Given the description of an element on the screen output the (x, y) to click on. 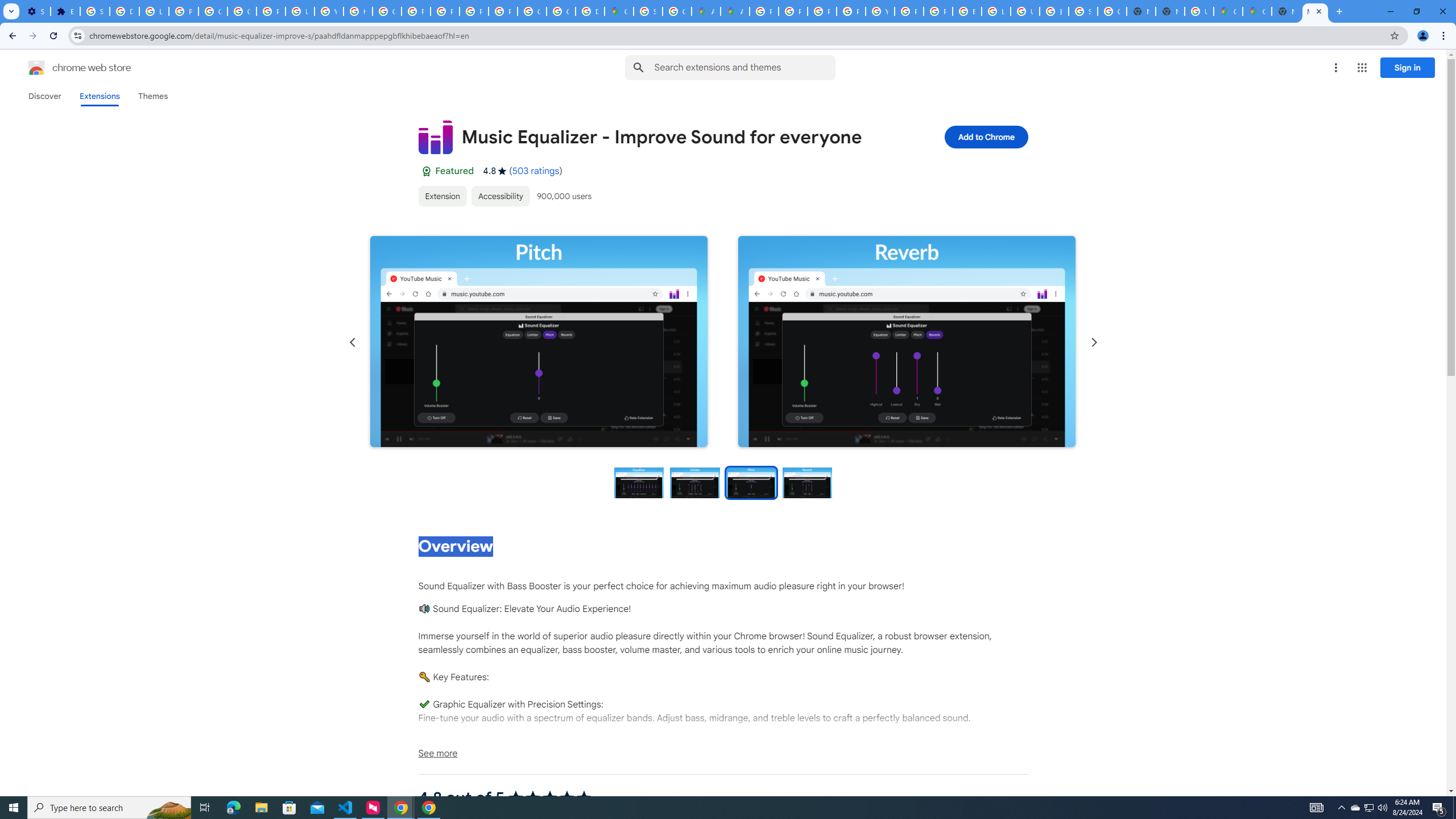
4.8 out of 5 stars (549, 797)
Item media 4 screenshot (906, 341)
Discover (43, 95)
Privacy Help Center - Policies Help (415, 11)
Privacy Help Center - Policies Help (792, 11)
Preview slide 1 (637, 482)
Policy Accountability and Transparency - Transparency Center (763, 11)
